Given the description of an element on the screen output the (x, y) to click on. 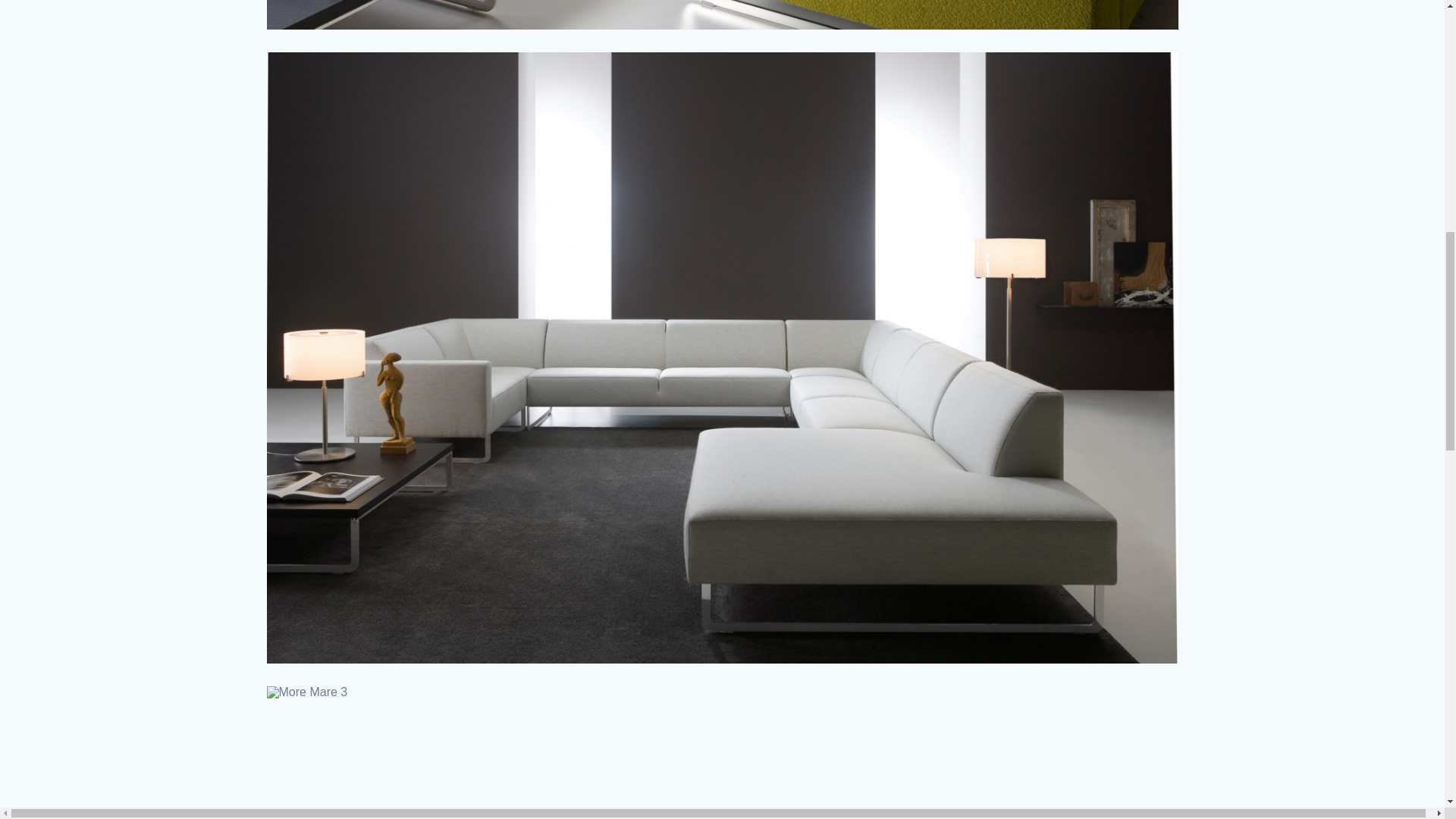
More Mare 3 (721, 752)
More Mare 1 (721, 14)
